Given the description of an element on the screen output the (x, y) to click on. 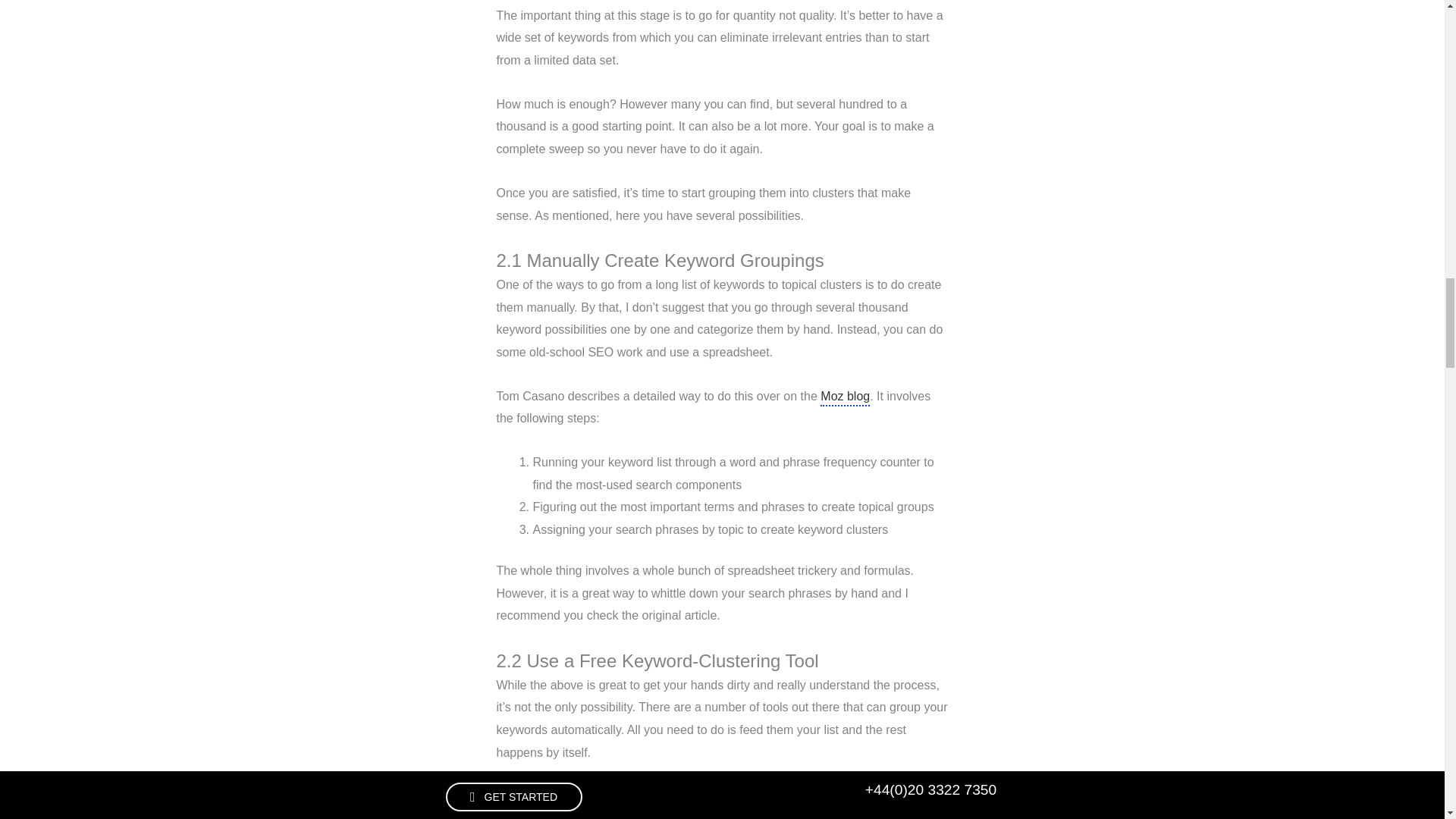
WordStream Keyword Grouper (824, 797)
Moz blog (845, 397)
